Given the description of an element on the screen output the (x, y) to click on. 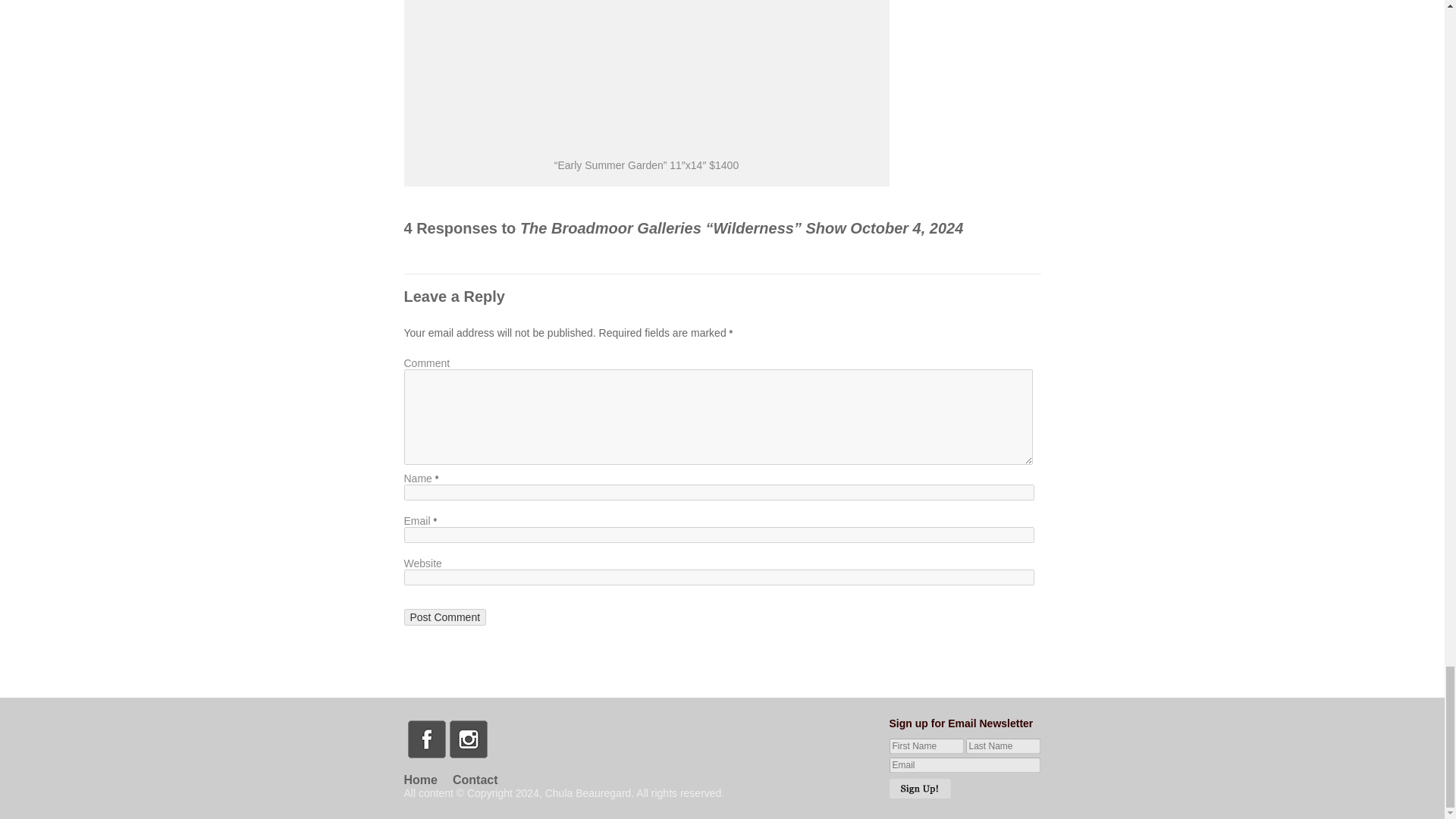
Home (427, 779)
Post Comment (444, 617)
Subscribe (920, 789)
Subscribe (920, 789)
Post Comment (444, 617)
